Given the description of an element on the screen output the (x, y) to click on. 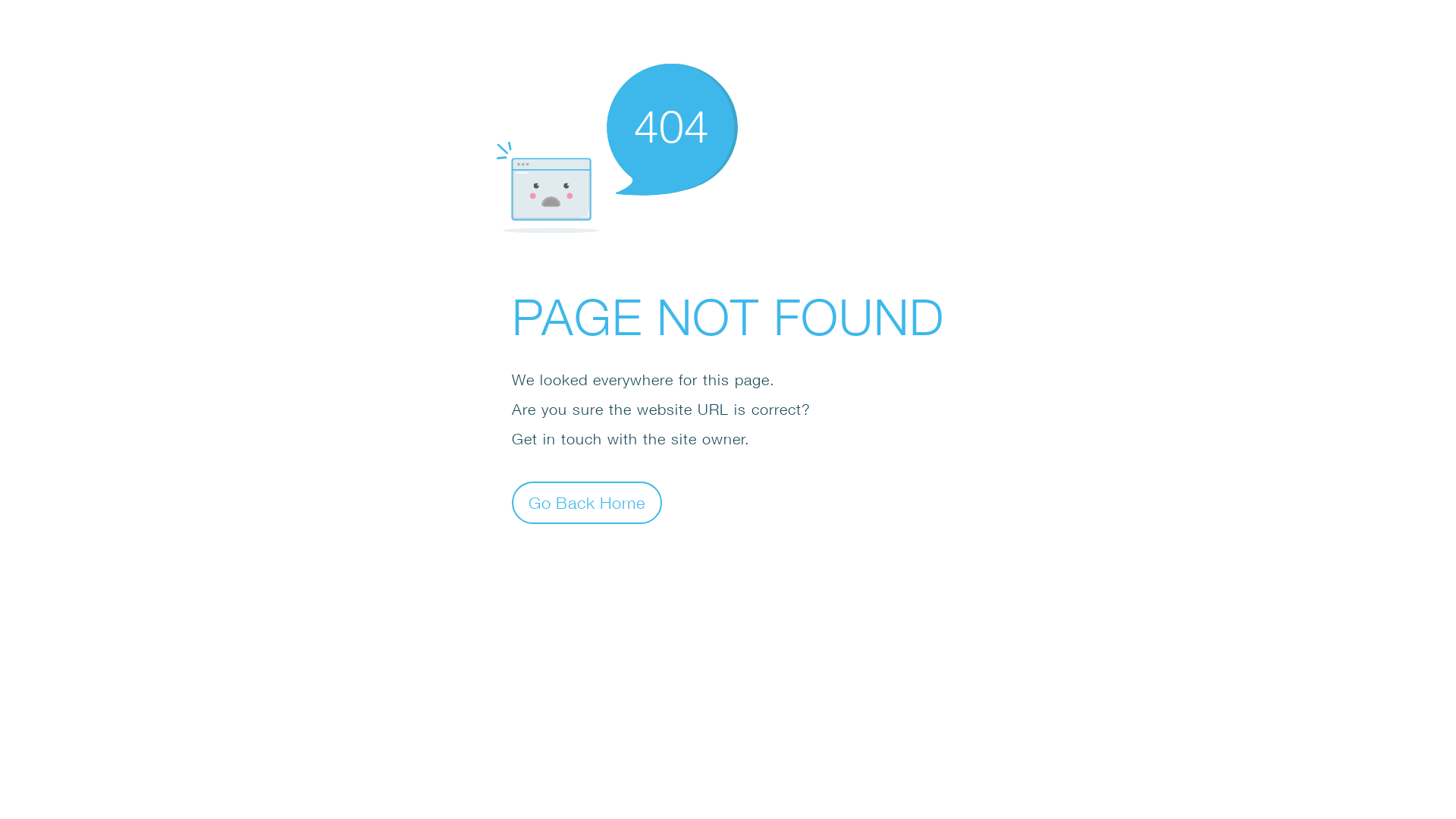
Go Back Home Element type: text (586, 502)
